Given the description of an element on the screen output the (x, y) to click on. 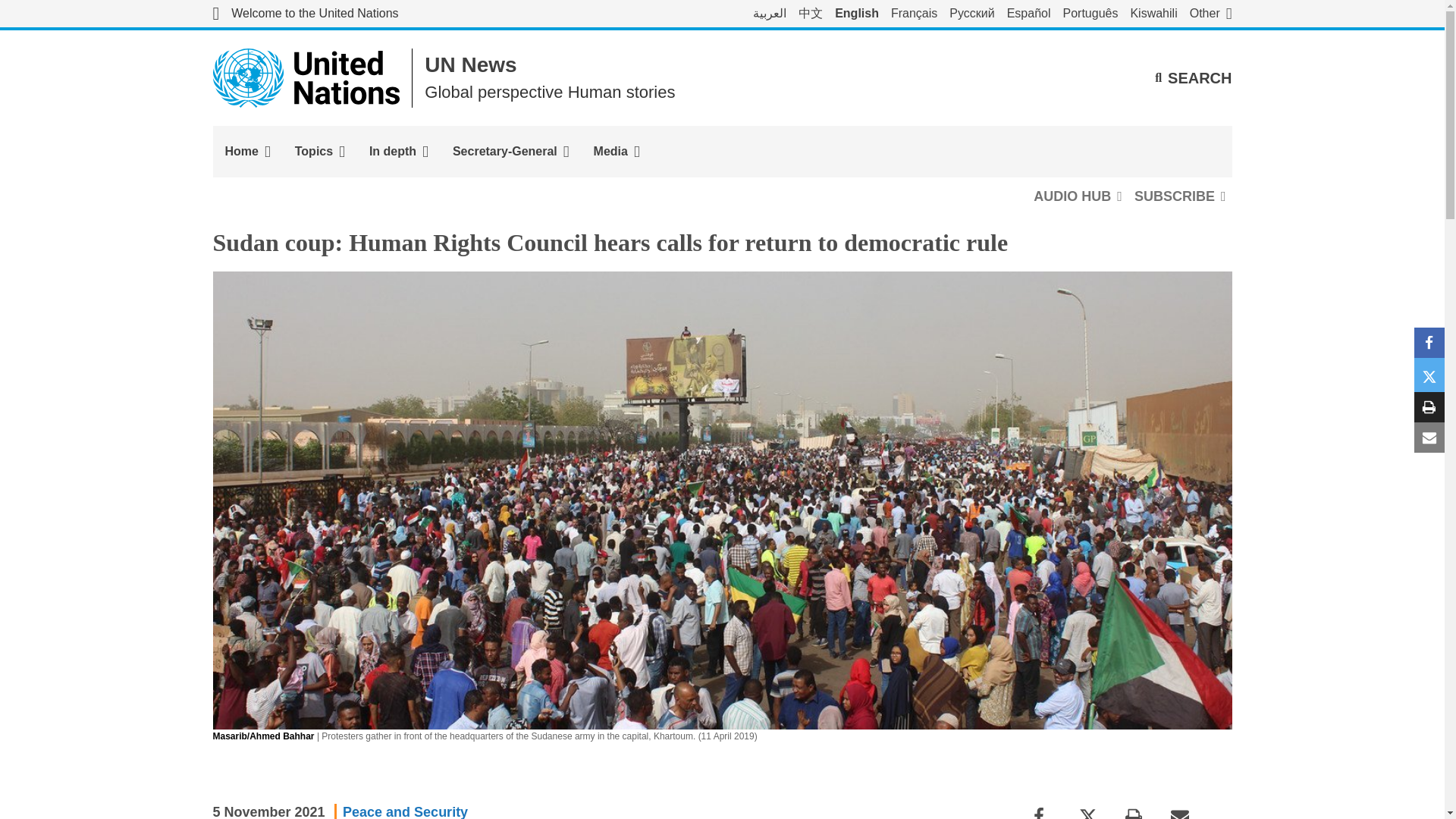
Home (247, 151)
Other (1210, 13)
UN News (470, 64)
UN News (470, 64)
English (856, 13)
Topics (319, 151)
Welcome to the United Nations (304, 13)
United Nations (305, 76)
United Nations (304, 13)
SEARCH (1192, 77)
